Given the description of an element on the screen output the (x, y) to click on. 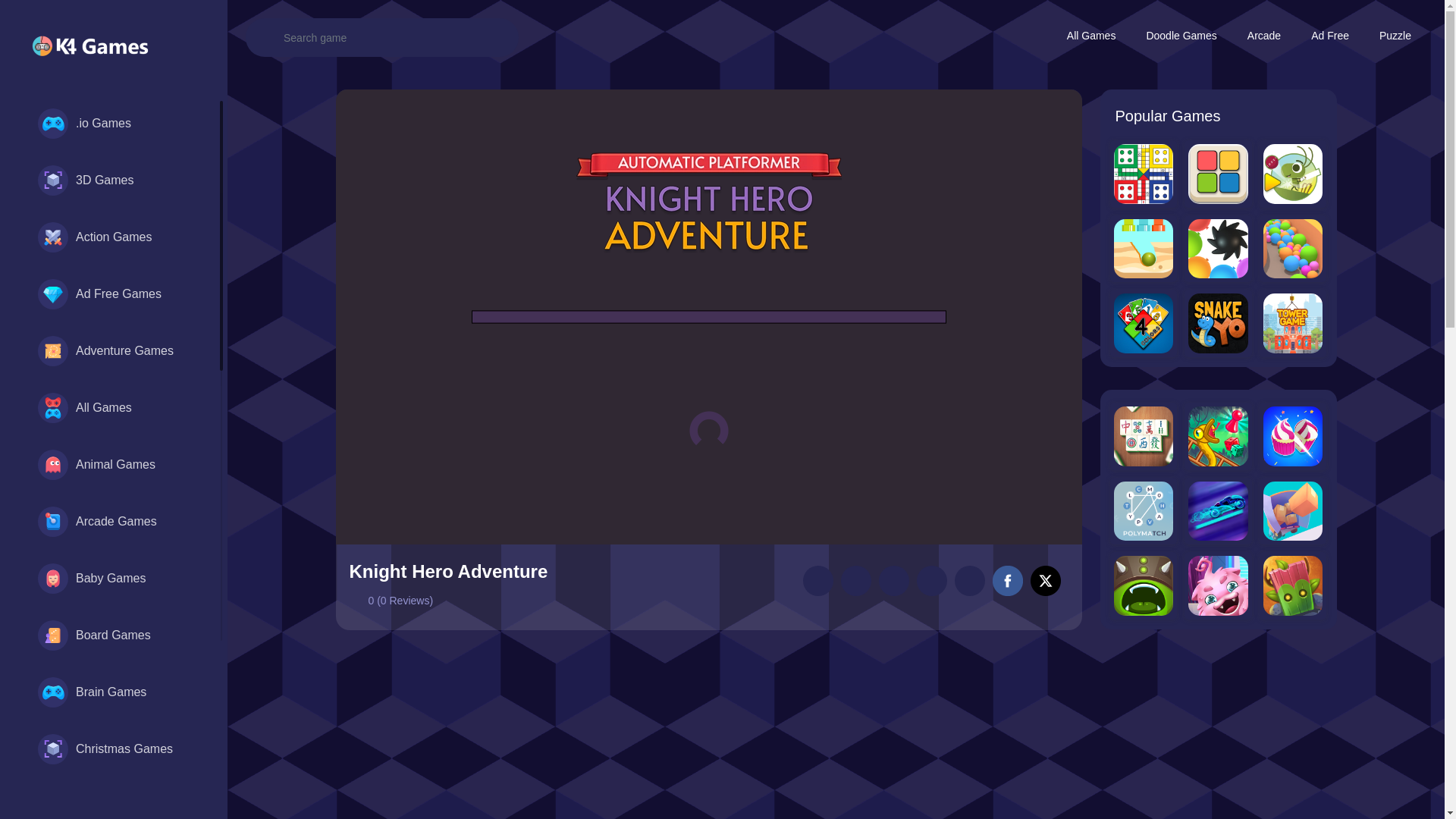
Ad Free (1329, 36)
New Window (968, 580)
Doodle Games (1181, 36)
Report Game (892, 580)
All Games (111, 407)
Ad Free Games (111, 293)
Dislike (855, 580)
Action Games (111, 237)
Advertisement (1217, 735)
3D Games (111, 180)
Board Games (111, 635)
Adventure Games (111, 350)
Puzzle (1395, 36)
Arcade Games (111, 521)
Advertisement (707, 732)
